Given the description of an element on the screen output the (x, y) to click on. 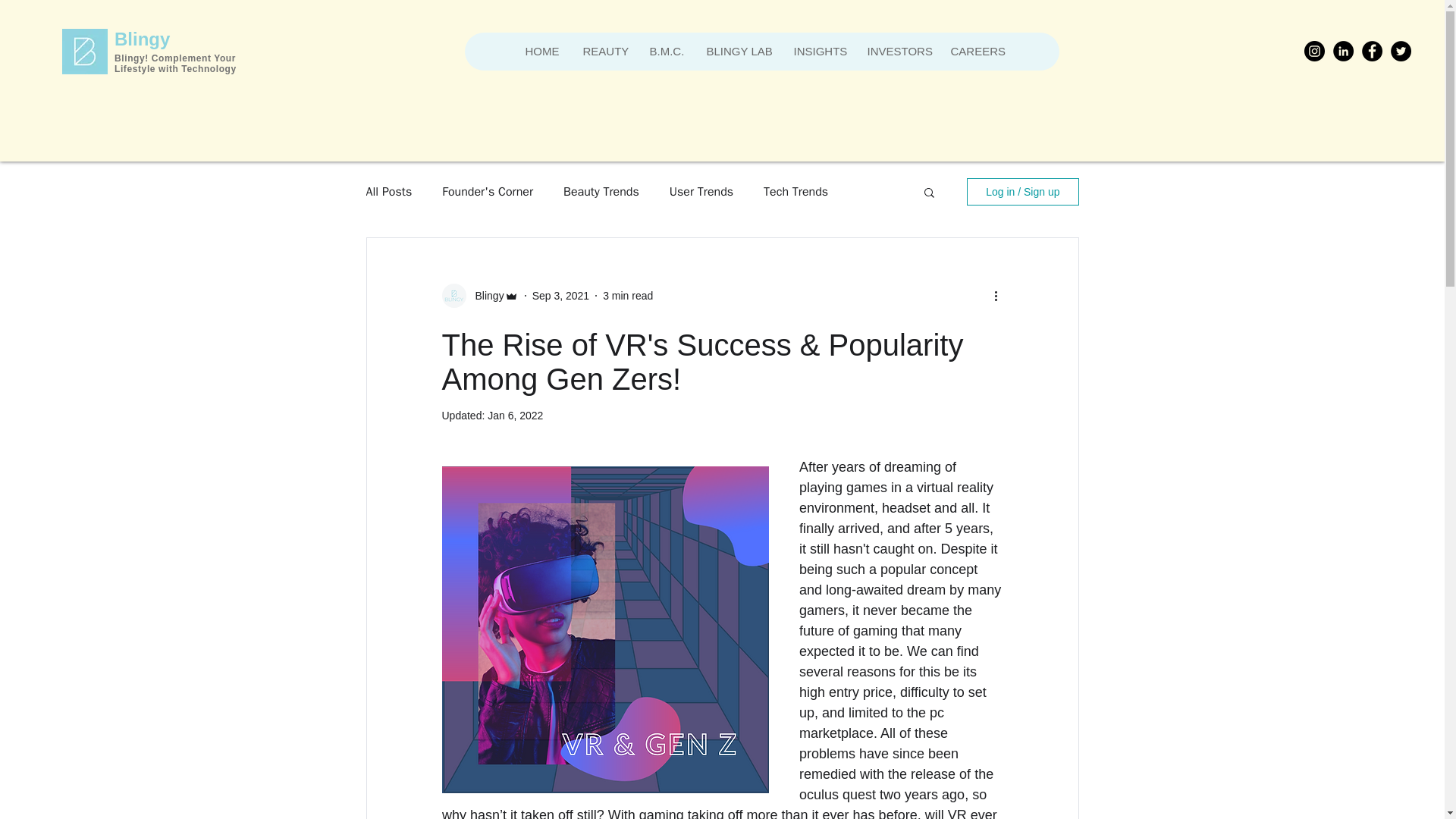
INSIGHTS (817, 51)
Blingy (484, 295)
Tech Trends (795, 191)
Lifestyle  (136, 68)
Sep 3, 2021 (560, 295)
Beauty Trends (601, 191)
INVESTORS (897, 51)
B.M.C. (665, 51)
CAREERS (975, 51)
REAUTY (603, 51)
